Given the description of an element on the screen output the (x, y) to click on. 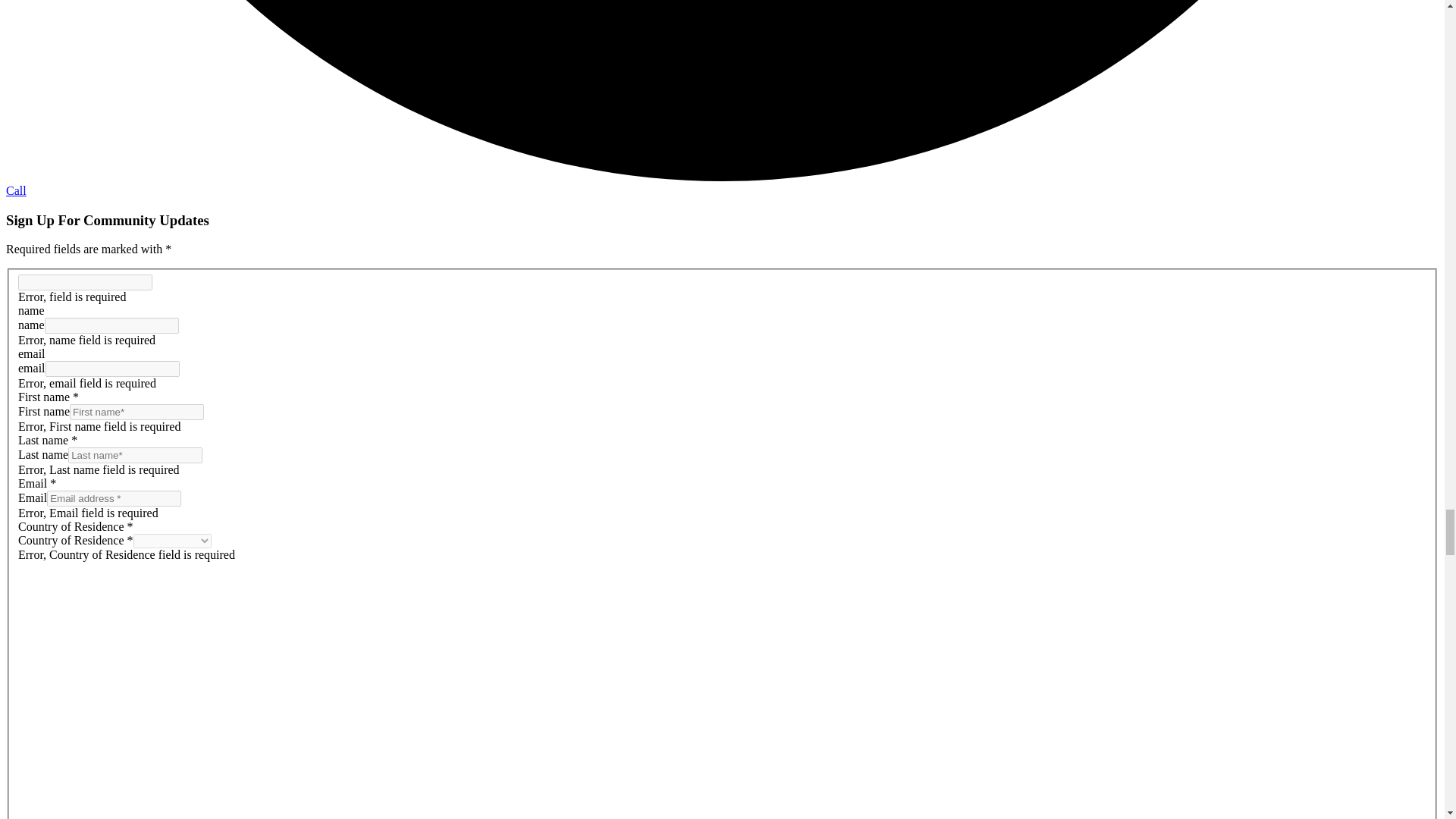
email (721, 368)
First name (721, 412)
Email (721, 498)
name (721, 325)
Last name (721, 455)
Call (15, 190)
